Given the description of an element on the screen output the (x, y) to click on. 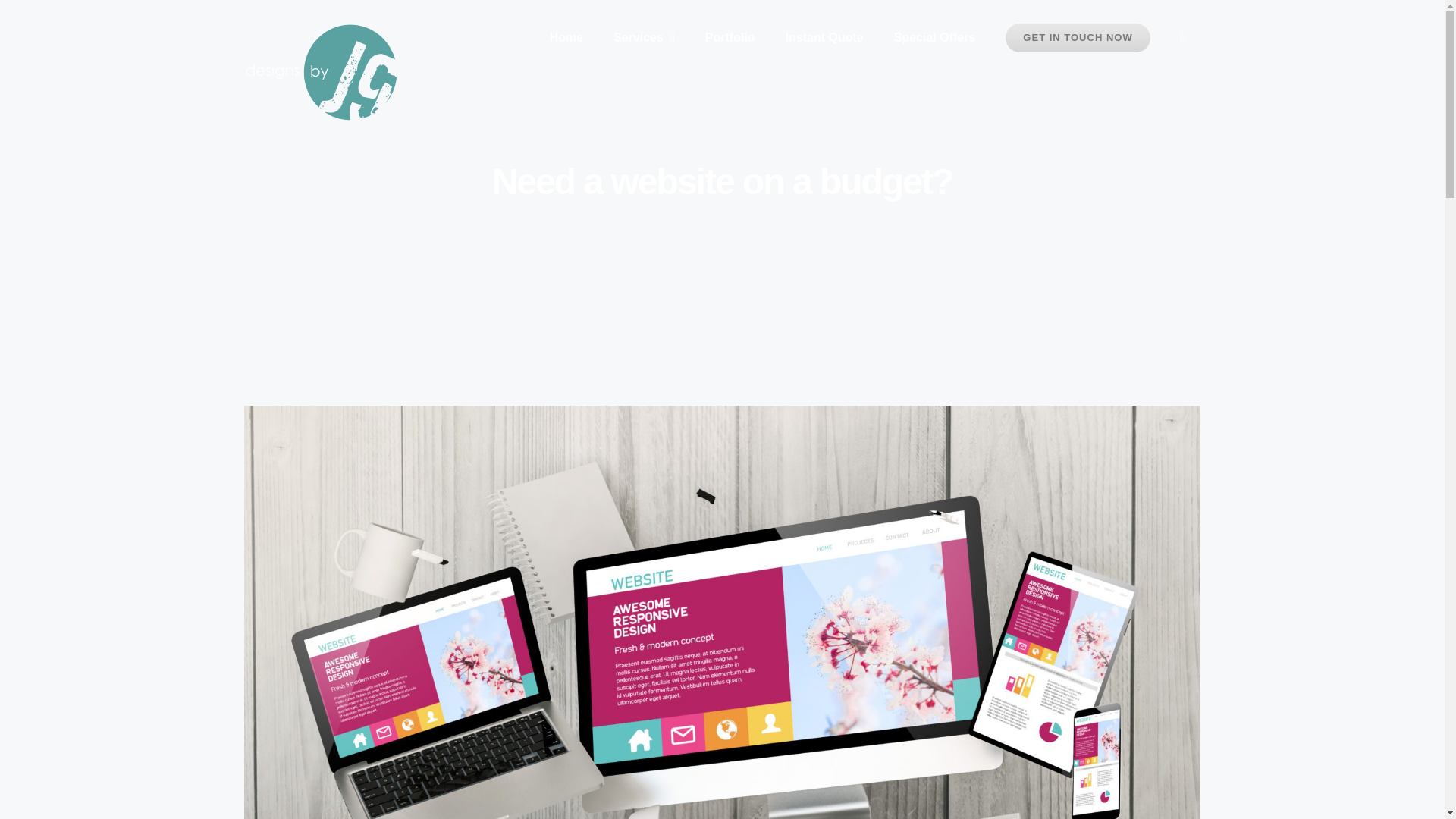
Services (644, 38)
Portfolio (730, 38)
Instant Quote (824, 38)
Special Offers (935, 38)
GET IN TOUCH NOW (1077, 38)
